Given the description of an element on the screen output the (x, y) to click on. 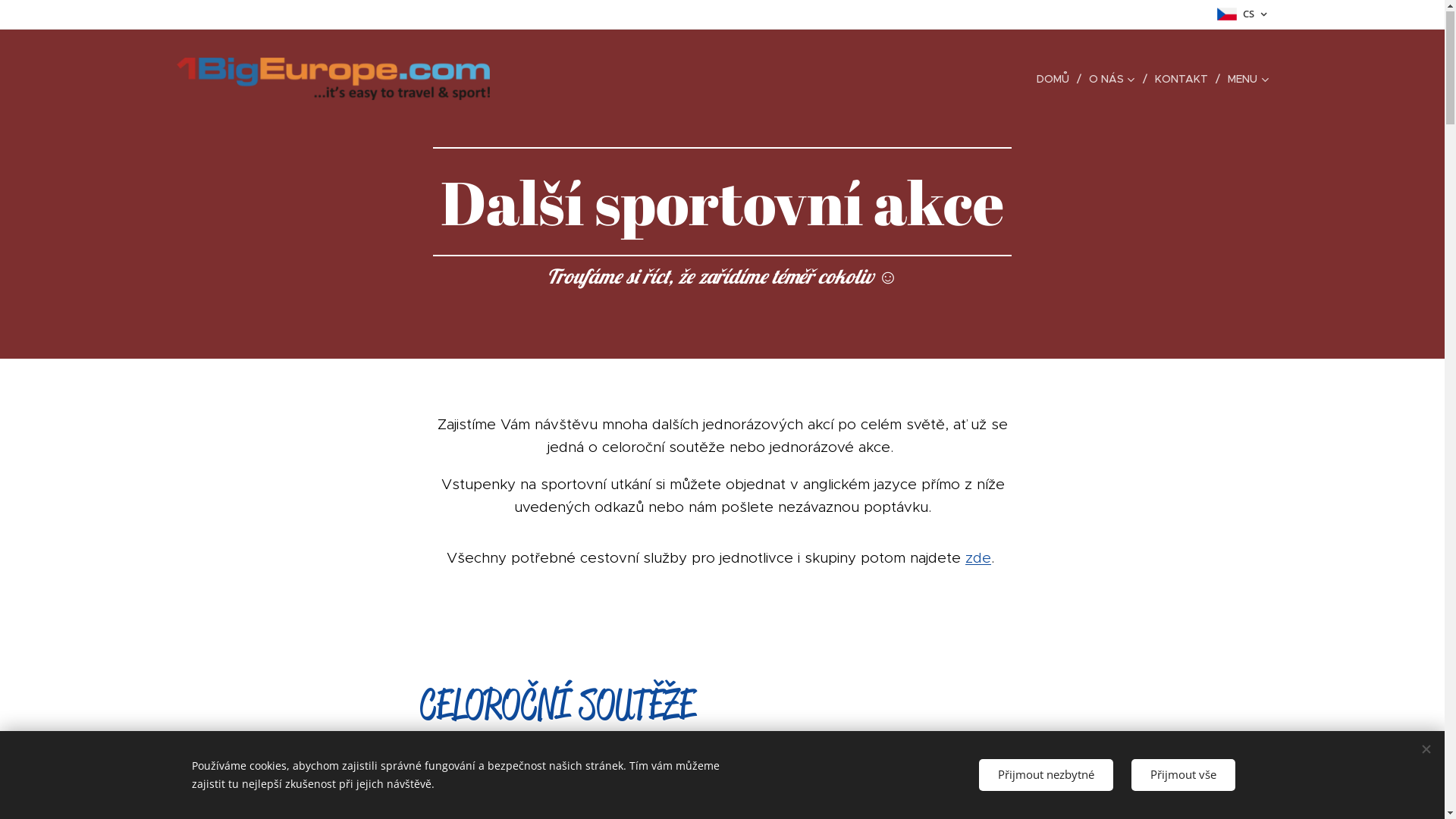
zde Element type: text (977, 558)
KONTAKT Element type: text (1182, 79)
MENU Element type: text (1243, 79)
